Given the description of an element on the screen output the (x, y) to click on. 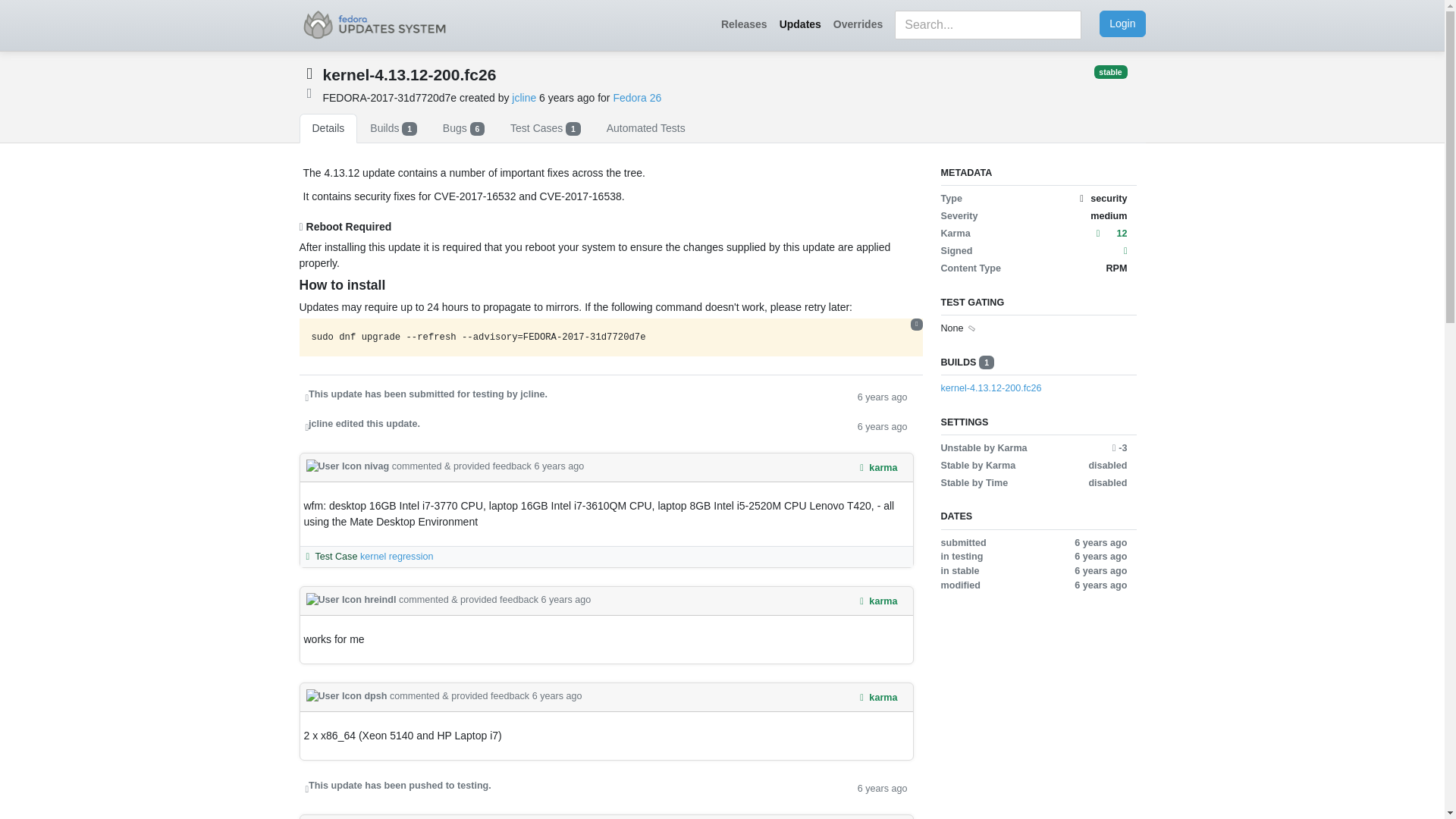
2017-11-08 22:10:20.671069 UTC (567, 97)
This update is in the critical path (308, 91)
Bugs 6 (463, 128)
hreindl (351, 599)
6 years ago (882, 395)
jcline (523, 97)
Fedora 26 (636, 97)
Builds 1 (392, 128)
Automated Tests (646, 128)
6 years ago (882, 425)
6 years ago (882, 787)
Details (327, 128)
Test Cases 1 (545, 128)
nivag (348, 466)
6 years ago (566, 599)
